Given the description of an element on the screen output the (x, y) to click on. 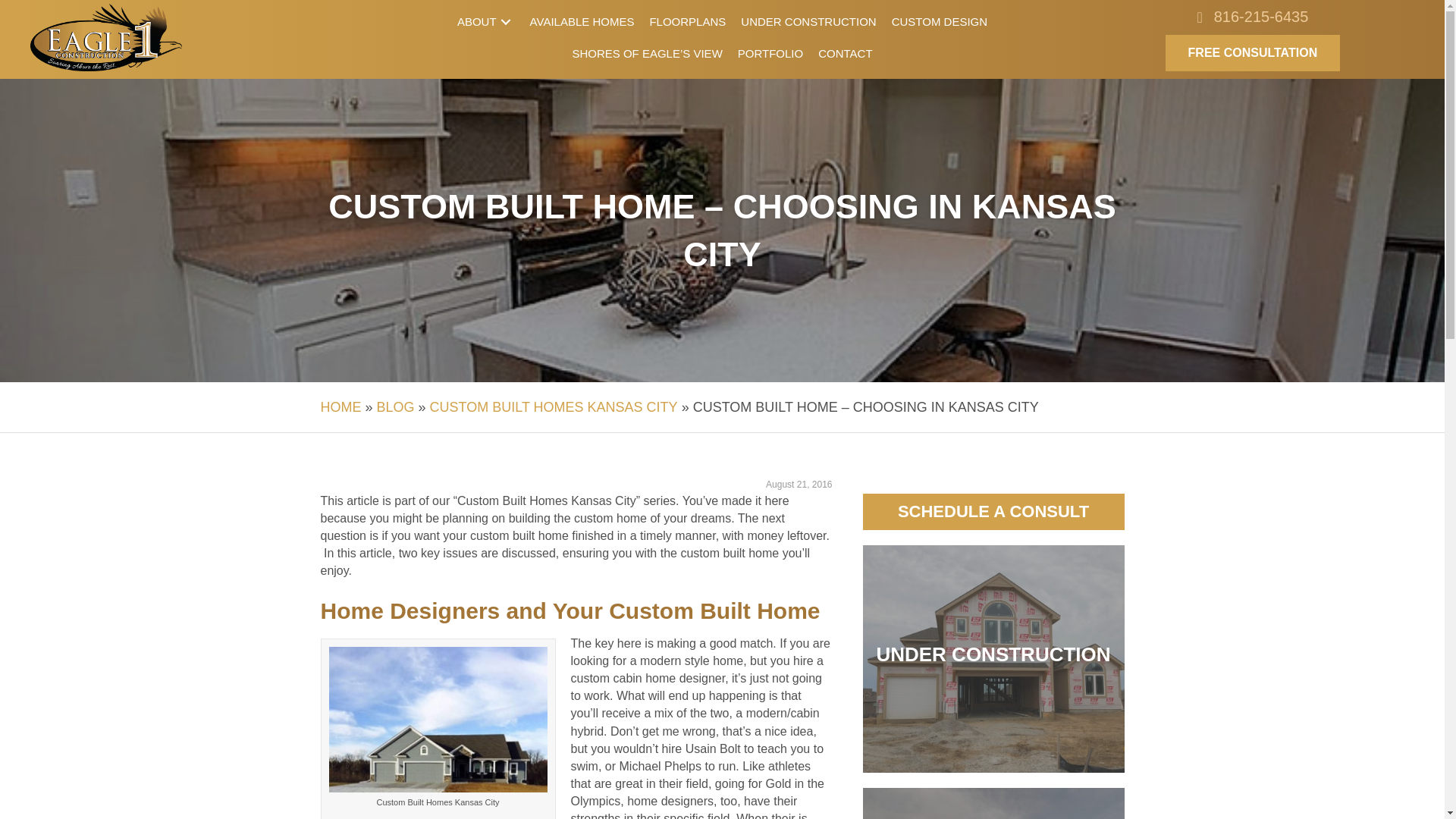
HOME (340, 406)
SCHEDULE A CONSULT (993, 511)
CONTACT (844, 53)
PORTFOLIO (770, 53)
UNDER CONSTRUCTION (808, 21)
816-215-6435 (1261, 16)
Eagle-1-Construction (106, 37)
FLOORPLANS (687, 21)
FREE CONSULTATION (1253, 53)
CUSTOM DESIGN (938, 21)
AVAILABLE HOMES (582, 21)
BLOG (395, 406)
ABOUT (485, 21)
CUSTOM BUILT HOMES KANSAS CITY (553, 406)
